Given the description of an element on the screen output the (x, y) to click on. 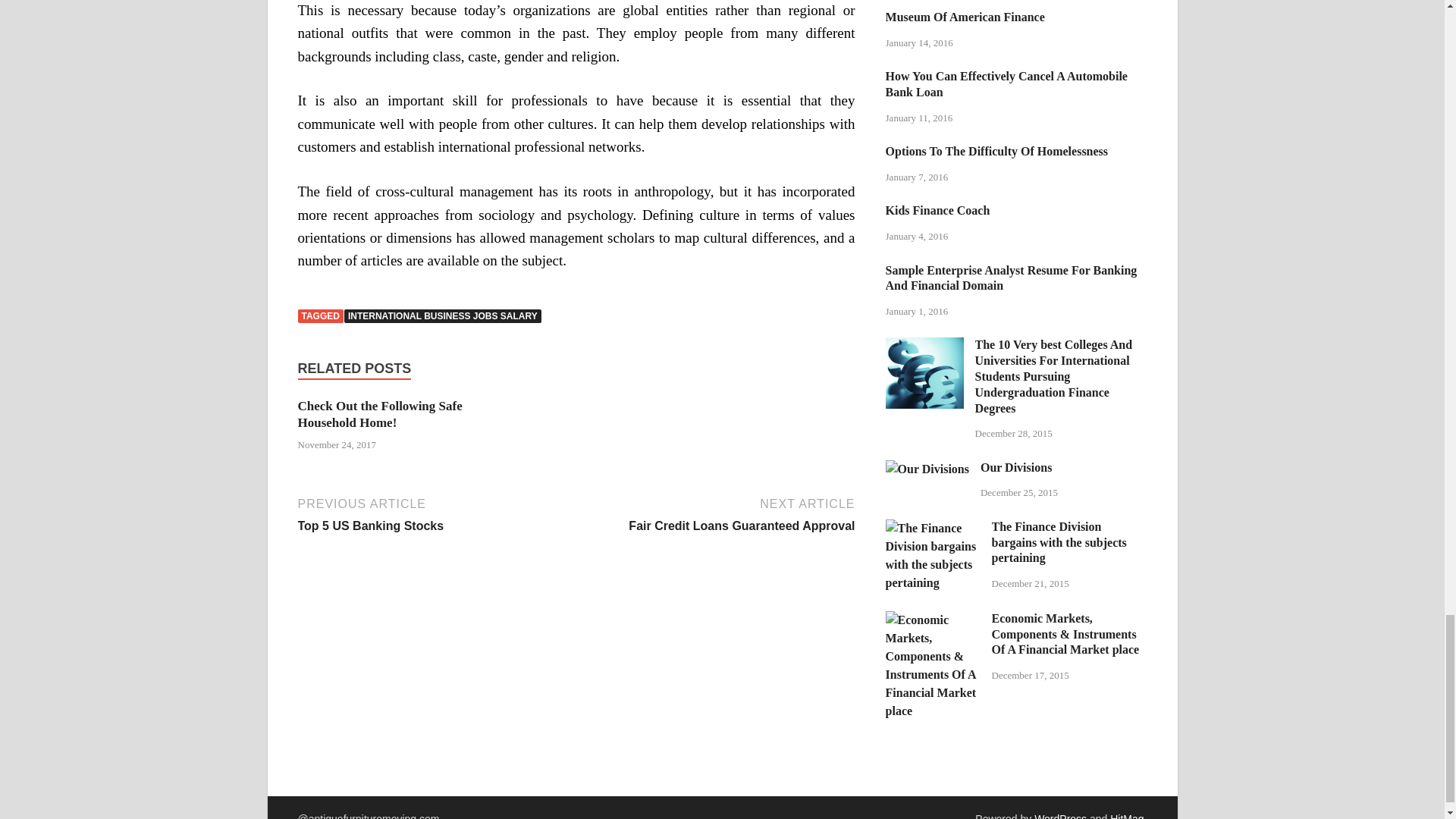
Check Out the Following Safe Household Home! (379, 413)
